Given the description of an element on the screen output the (x, y) to click on. 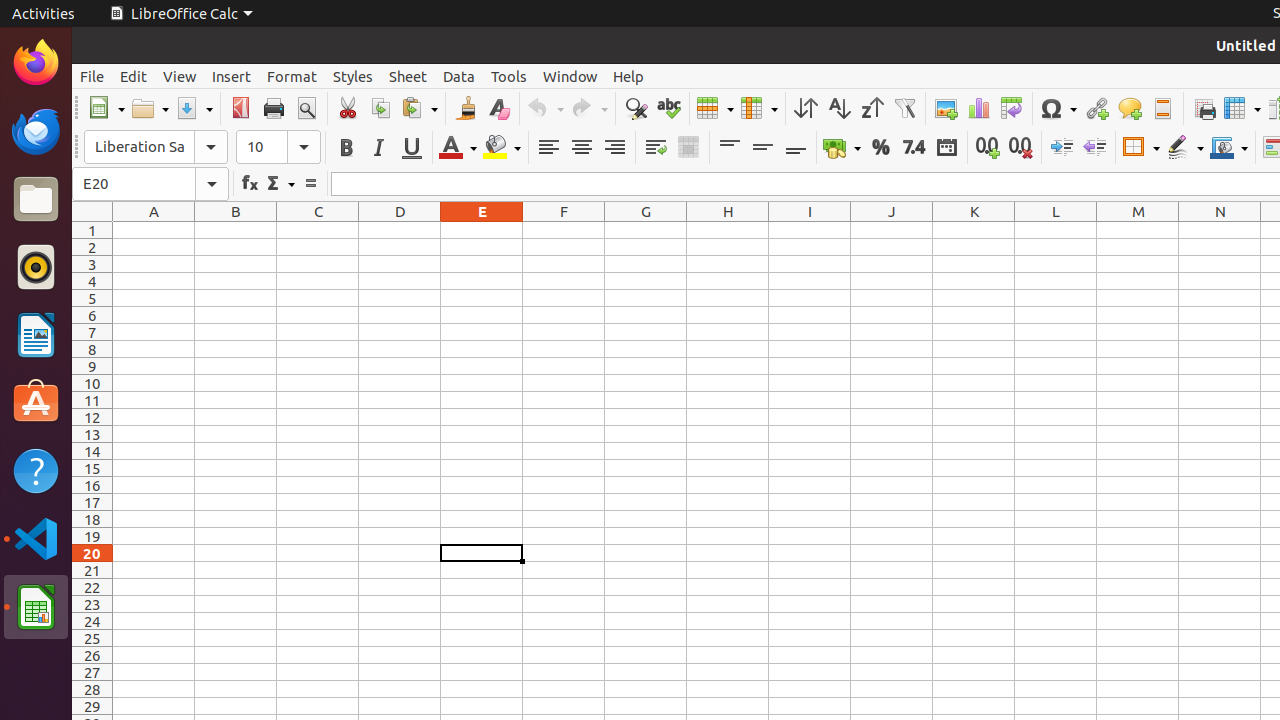
Styles Element type: menu (353, 76)
Font Size Element type: combo-box (278, 147)
Add Decimal Place Element type: push-button (987, 147)
Comment Element type: push-button (1129, 108)
C1 Element type: table-cell (318, 230)
